Given the description of an element on the screen output the (x, y) to click on. 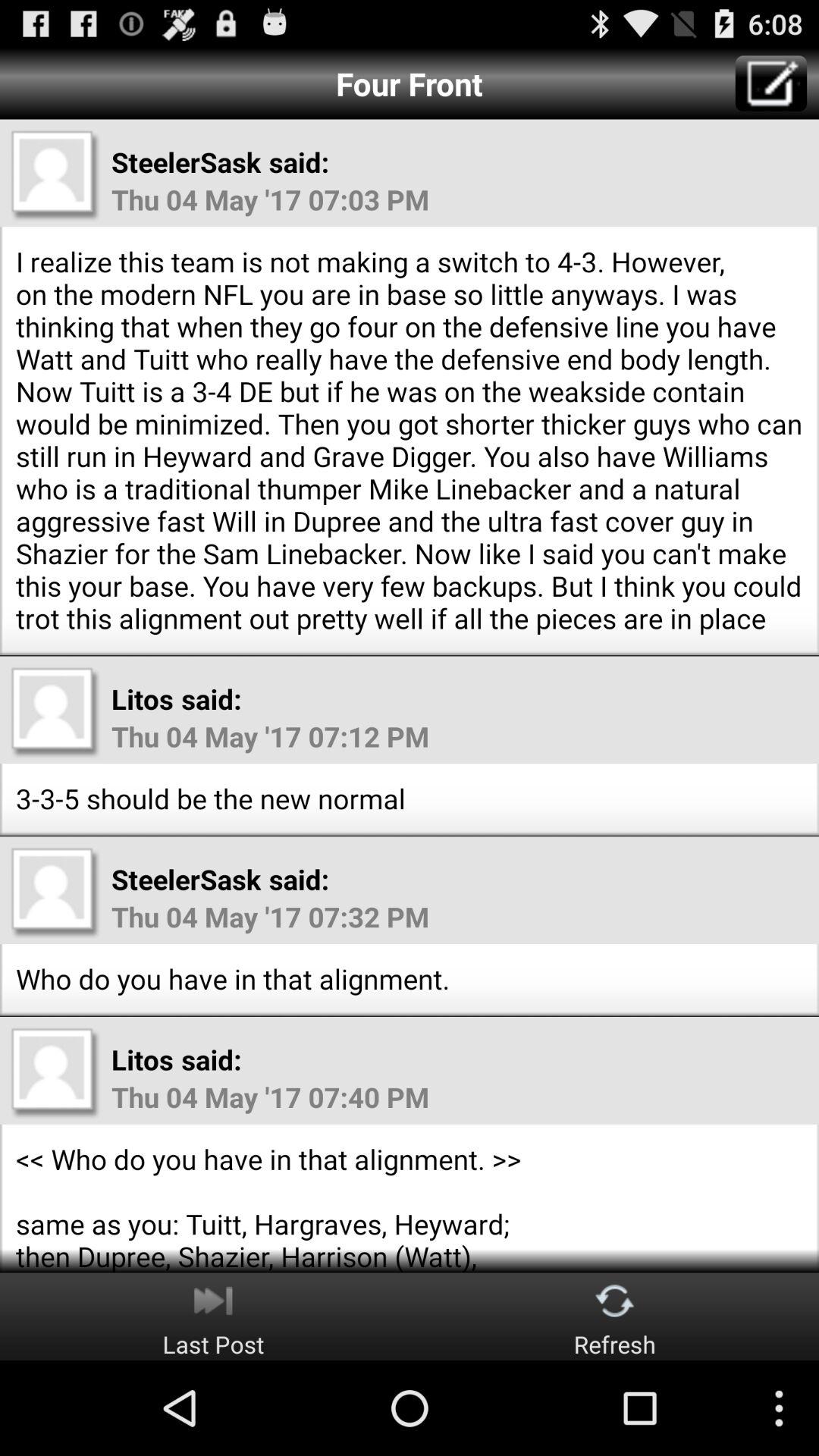
open icon below the who do you icon (213, 1316)
